Given the description of an element on the screen output the (x, y) to click on. 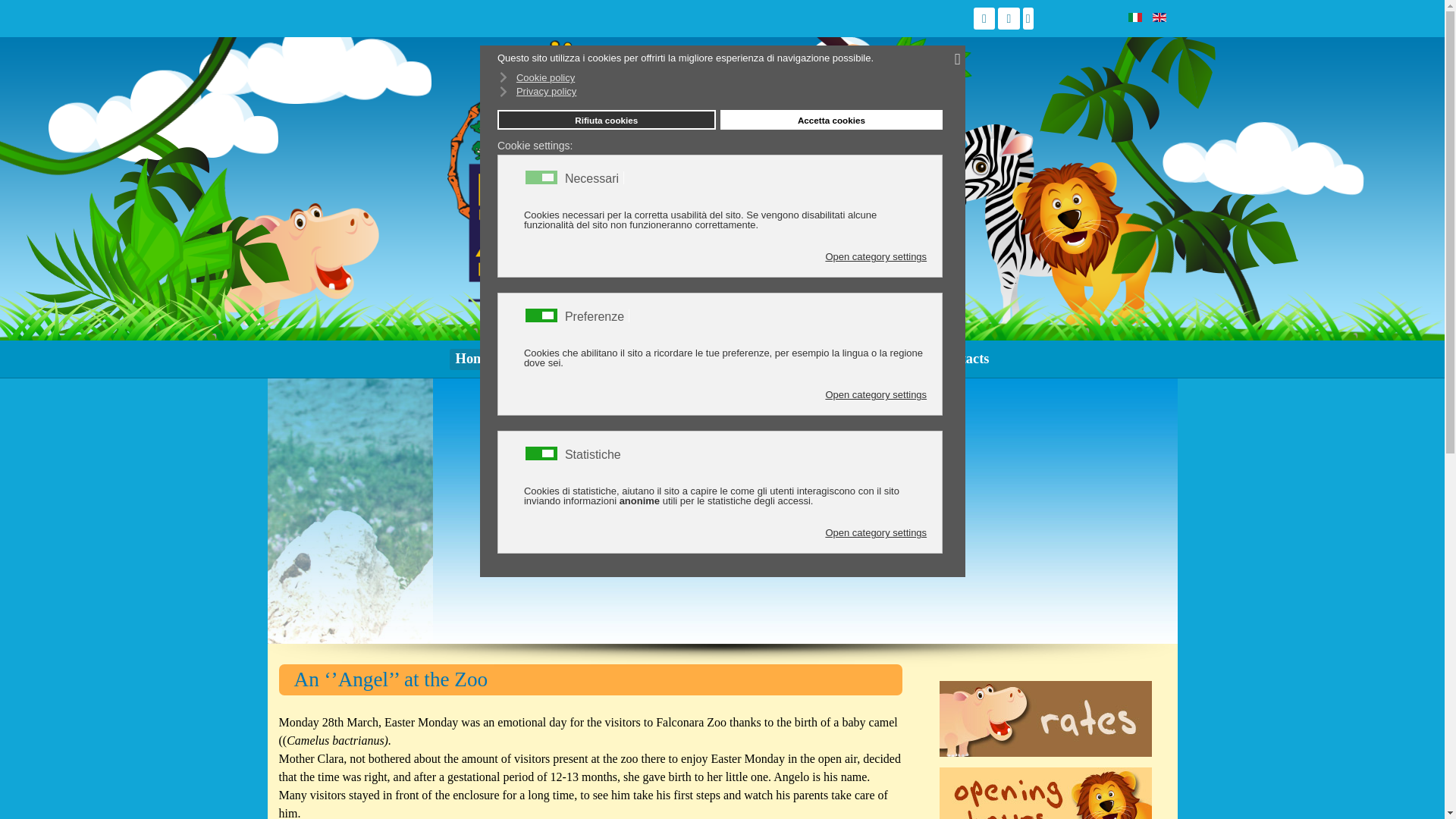
Home (472, 359)
Accetta cookies (831, 119)
Rifiuta cookies (606, 119)
Contacts (962, 359)
Statistiche (595, 453)
English (1159, 17)
Italiano (1134, 17)
RistoZoo (731, 359)
Preferenze (596, 315)
Cookie policy (720, 77)
Necessari (594, 177)
Education (804, 359)
Animals (663, 359)
Privacy policy (720, 91)
